Given the description of an element on the screen output the (x, y) to click on. 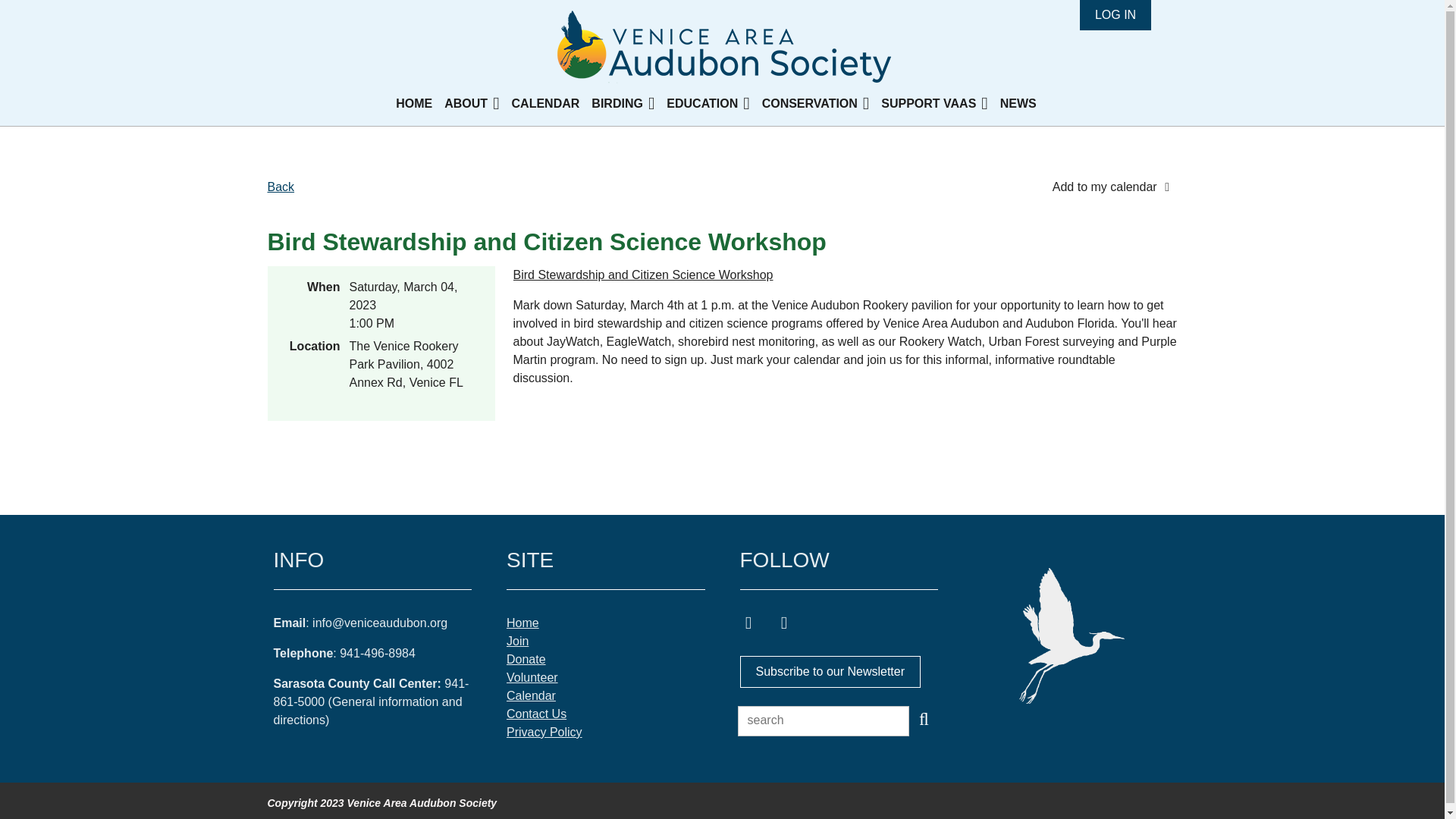
LOG IN (1115, 15)
ABOUT (477, 102)
HOME (420, 102)
